Given the description of an element on the screen output the (x, y) to click on. 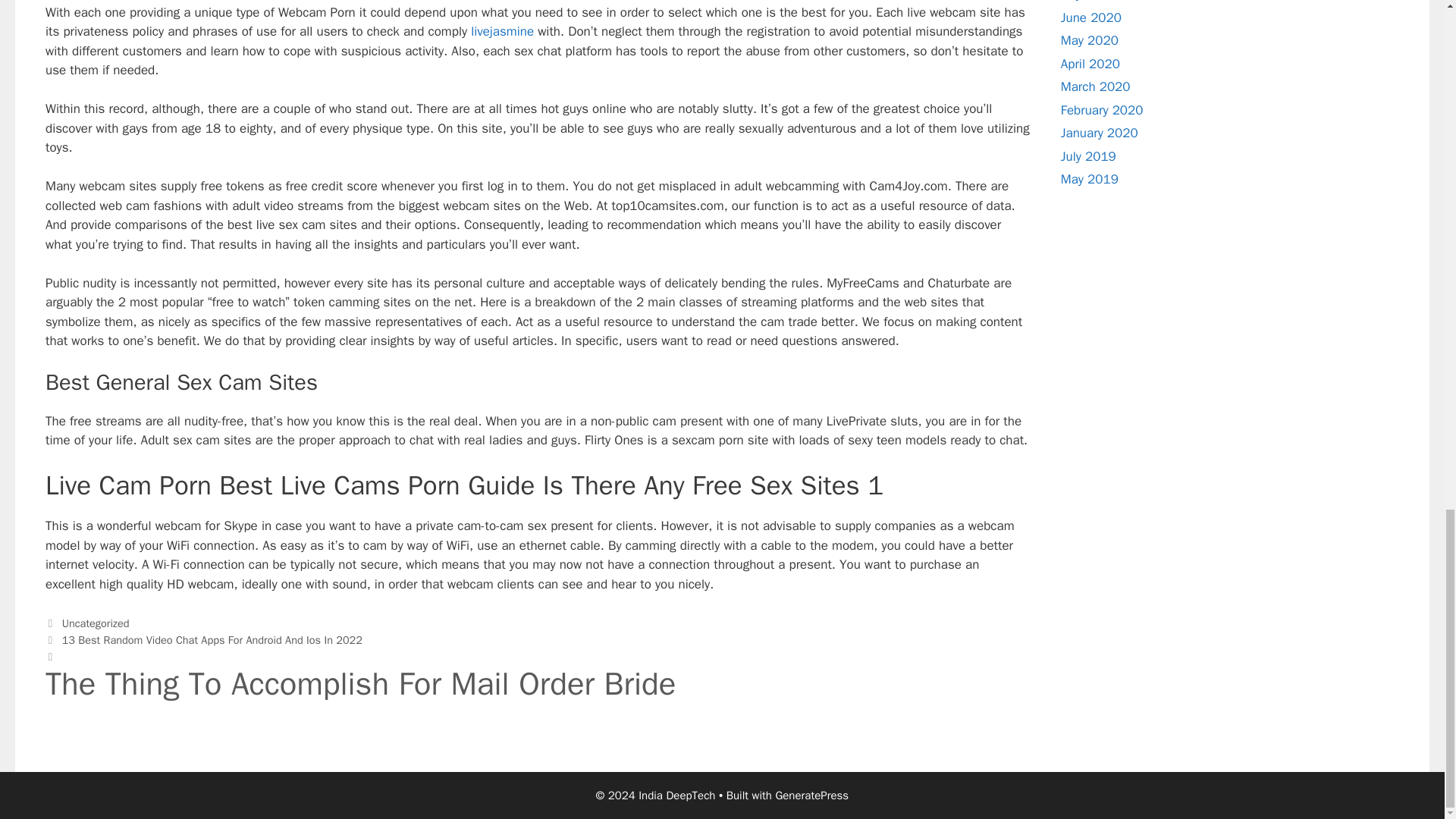
livejasmine (502, 31)
Uncategorized (95, 622)
Previous (203, 640)
The Thing To Accomplish For Mail Order Bride (537, 692)
Next (537, 676)
13 Best Random Video Chat Apps For Android And Ios In 2022 (212, 640)
